Given the description of an element on the screen output the (x, y) to click on. 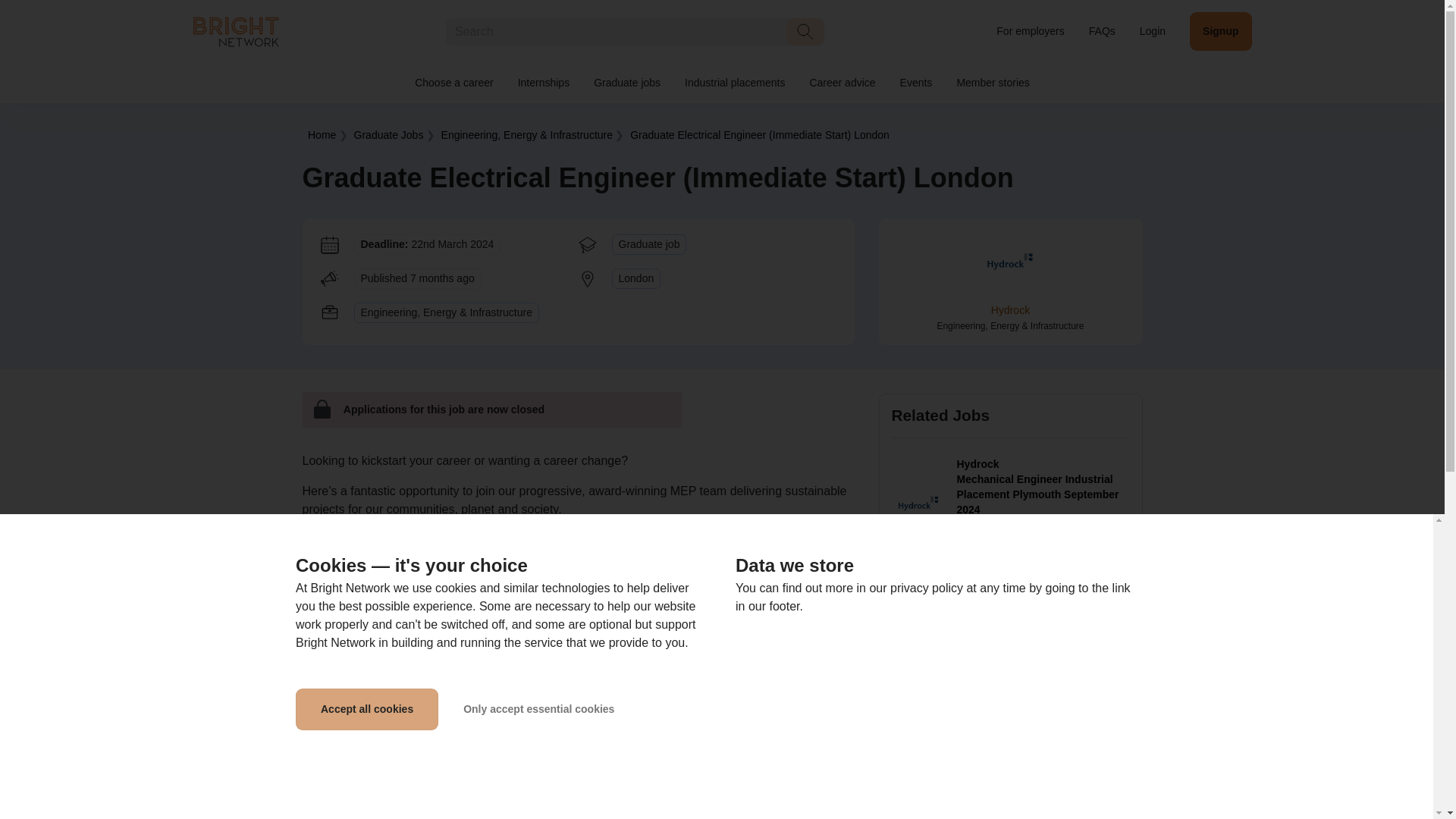
Events (916, 83)
Choose a career (454, 83)
Home (235, 30)
Graduate (759, 134)
Member stories (992, 83)
Home (321, 134)
Graduate jobs (626, 83)
Career advice (841, 83)
Engineering, (526, 134)
Graduate (388, 134)
Industrial placements (734, 83)
Internships (542, 83)
